Given the description of an element on the screen output the (x, y) to click on. 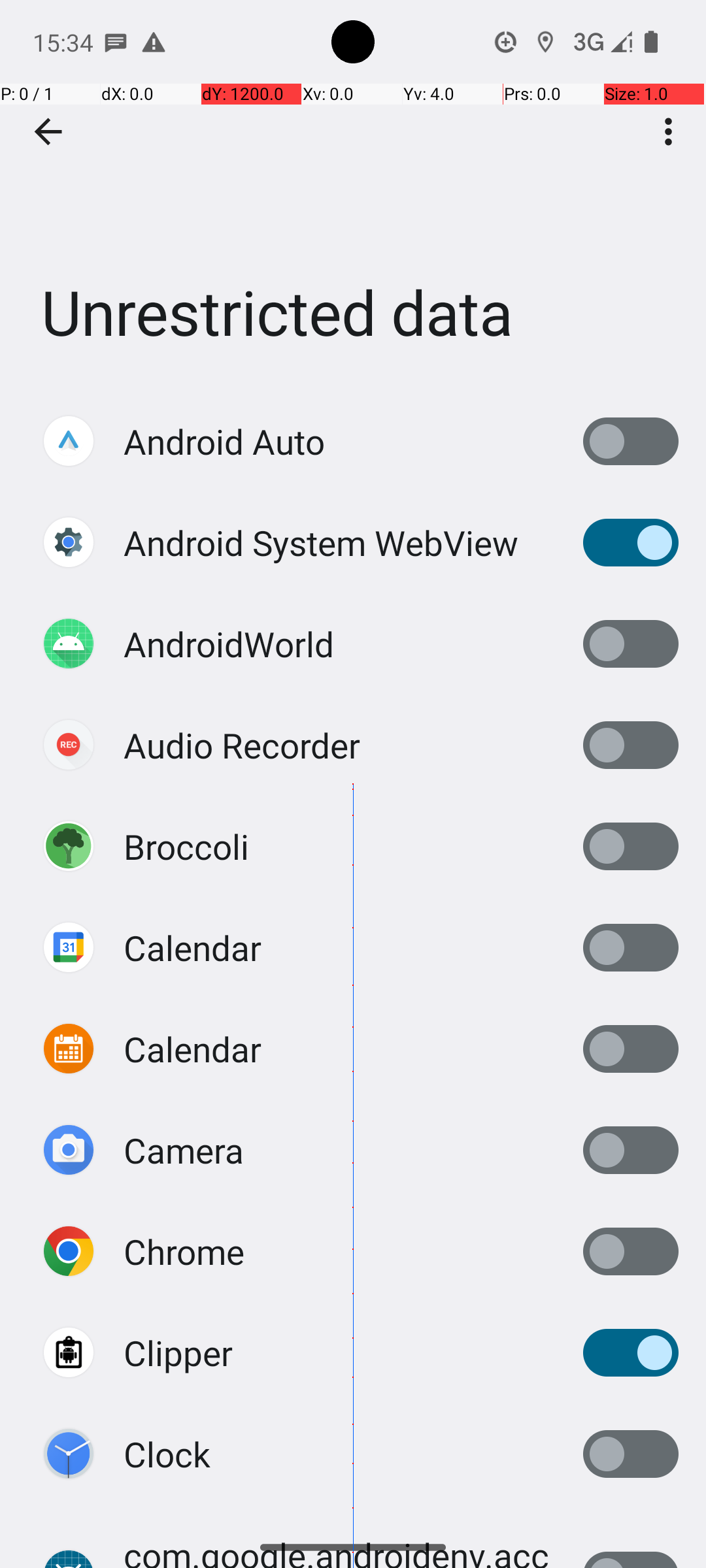
Unrestricted data Element type: android.widget.FrameLayout (353, 195)
Android Auto Element type: android.widget.TextView (223, 441)
Android System WebView Element type: android.widget.TextView (320, 542)
AndroidWorld Element type: android.widget.TextView (228, 643)
Camera Element type: android.widget.TextView (183, 1150)
Clipper Element type: android.widget.TextView (177, 1352)
